Given the description of an element on the screen output the (x, y) to click on. 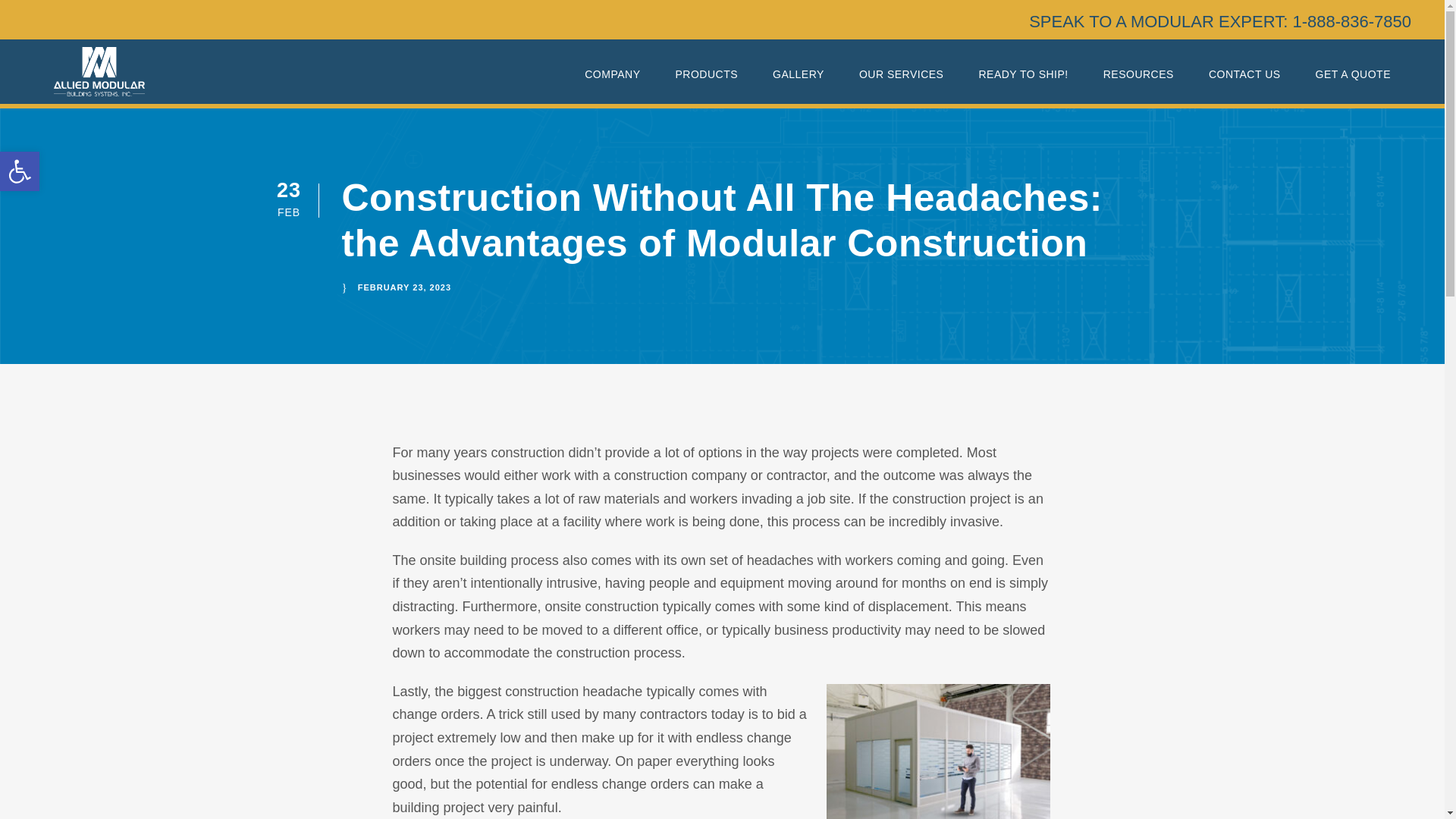
Accessibility Tools (19, 170)
COMPANY (612, 80)
1-888-836-7850 (1351, 21)
Accessibility Tools (19, 170)
Call Allied Modular (19, 170)
PRODUCTS (1351, 21)
